Given the description of an element on the screen output the (x, y) to click on. 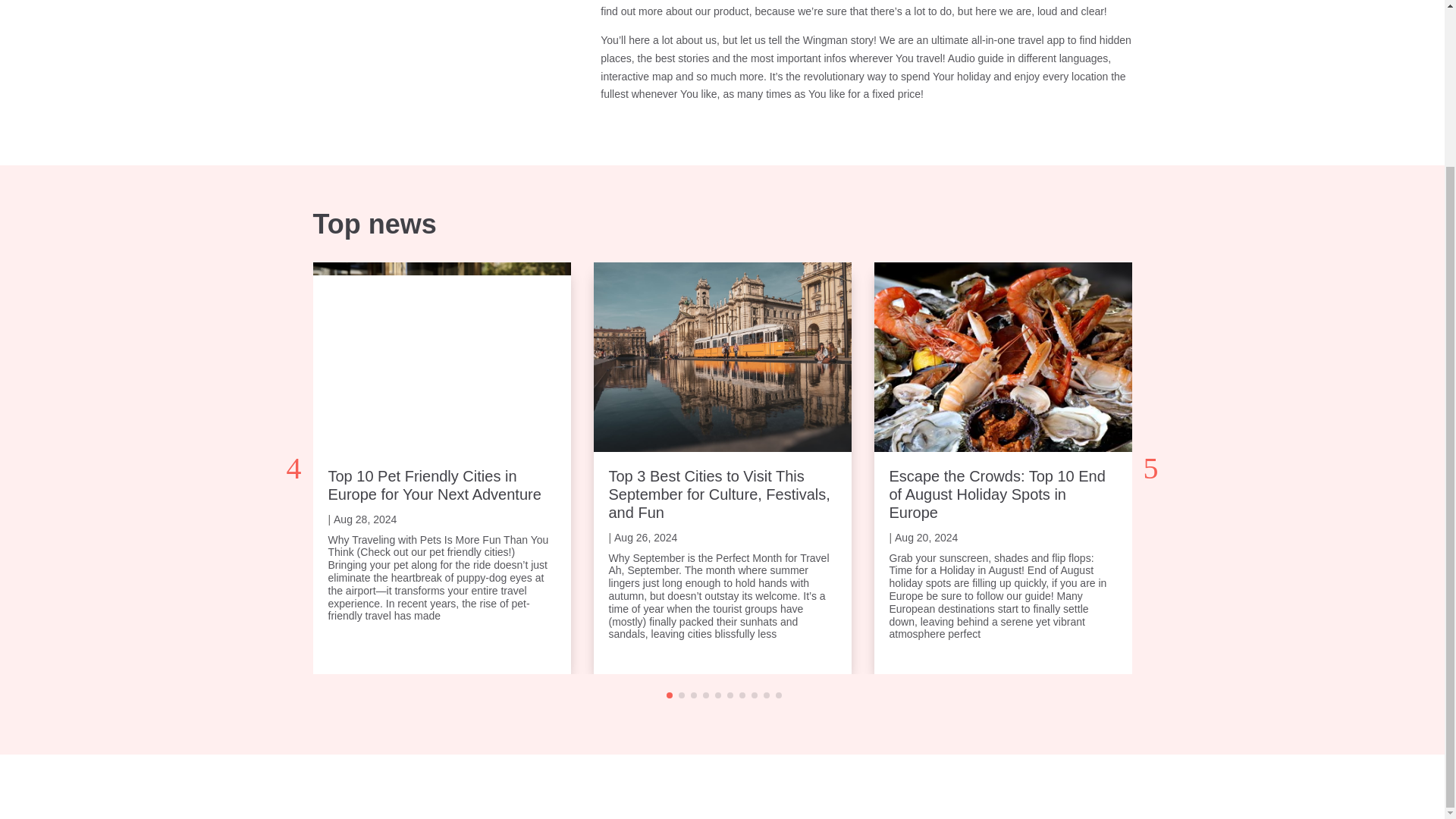
Top 10 Pet Friendly Cities in Europe for Your Next Adventure (433, 484)
Top 10 Pet Friendly Cities in Europe for Your Next Adventure (433, 484)
